Given the description of an element on the screen output the (x, y) to click on. 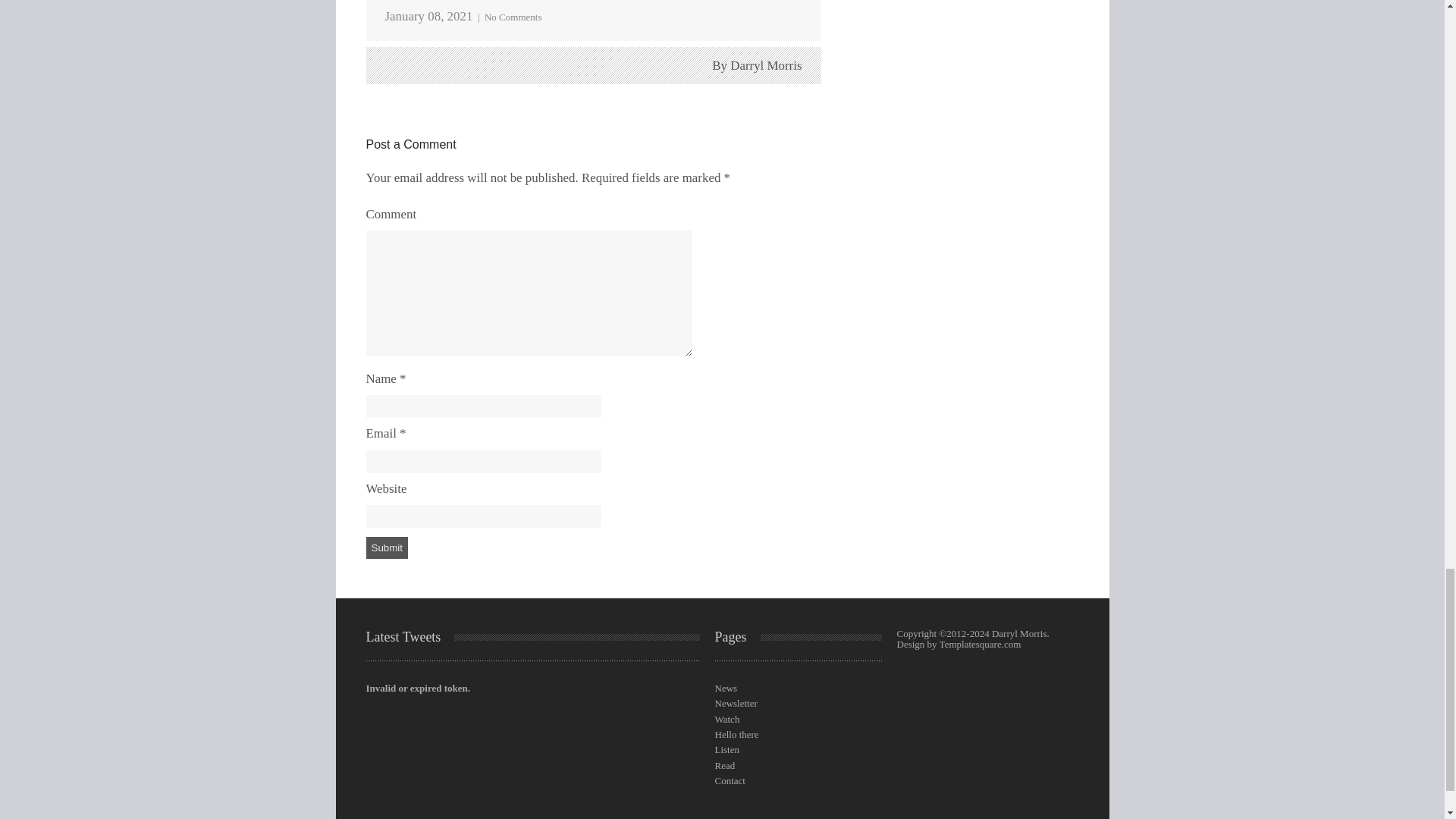
Templatesquare.com (980, 644)
Submit (386, 547)
Darryl Morris. (1020, 633)
Newsletter (735, 703)
By Darryl Morris (756, 65)
Contact (729, 780)
No Comments (512, 16)
Watch (726, 718)
Submit (386, 547)
Listen (726, 749)
Hello there (736, 734)
Read (724, 765)
News (725, 687)
